Given the description of an element on the screen output the (x, y) to click on. 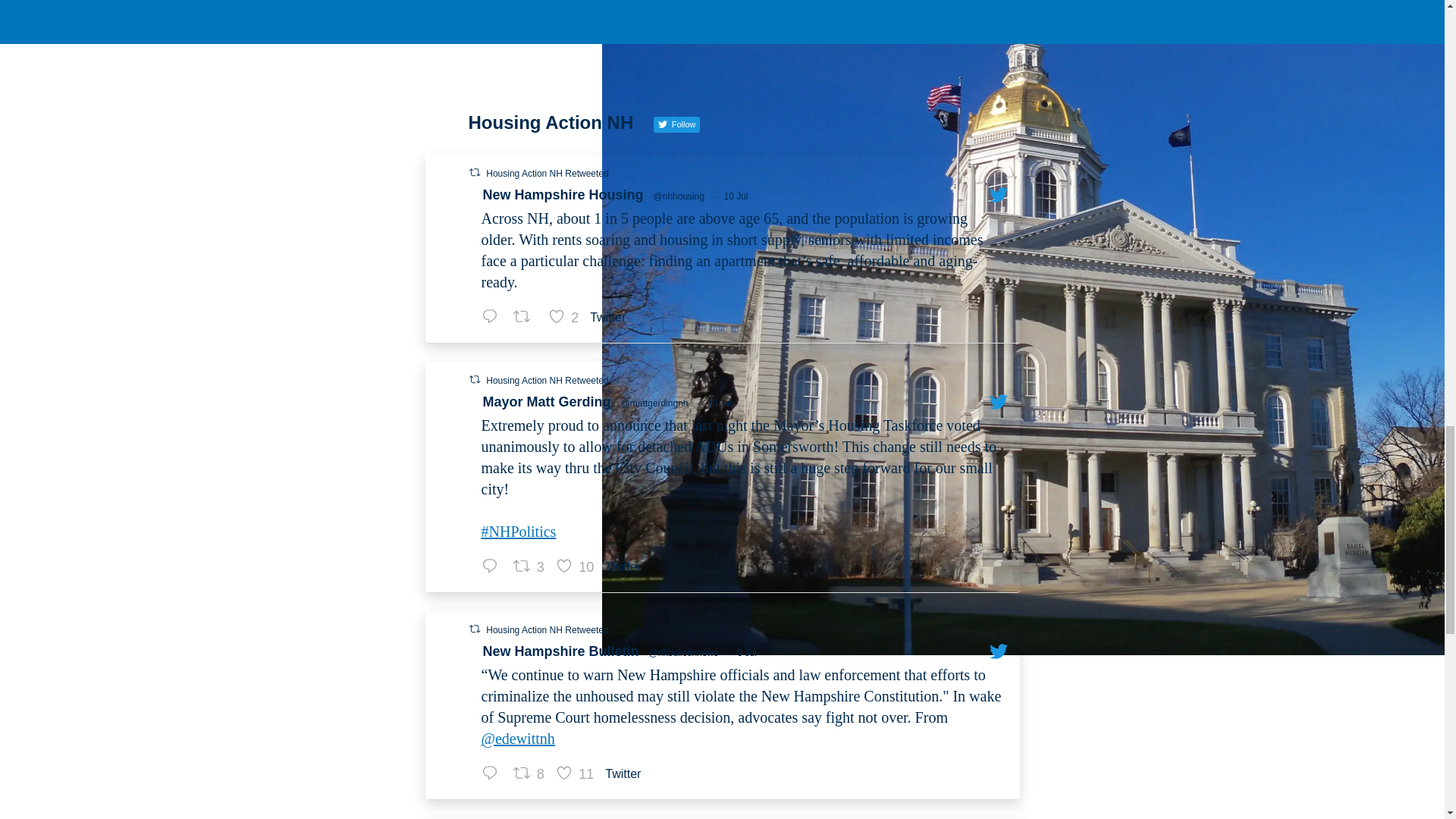
Twitter 1811046213430518007 (611, 316)
Twitter 1811152902515253659 (626, 566)
Retweet on Twitter 1811046213430518007 (576, 566)
Reply on Twitter 1811046213430518007 (526, 317)
Retweet on Twitter (494, 317)
10 Jul (473, 172)
10 Jul (565, 317)
Housing Action NH Retweeted (719, 403)
Mayor Matt Gerding (735, 195)
New Hampshire Housing (547, 629)
Retweet on Twitter (545, 402)
Housing Action NH Follow (562, 195)
